Given the description of an element on the screen output the (x, y) to click on. 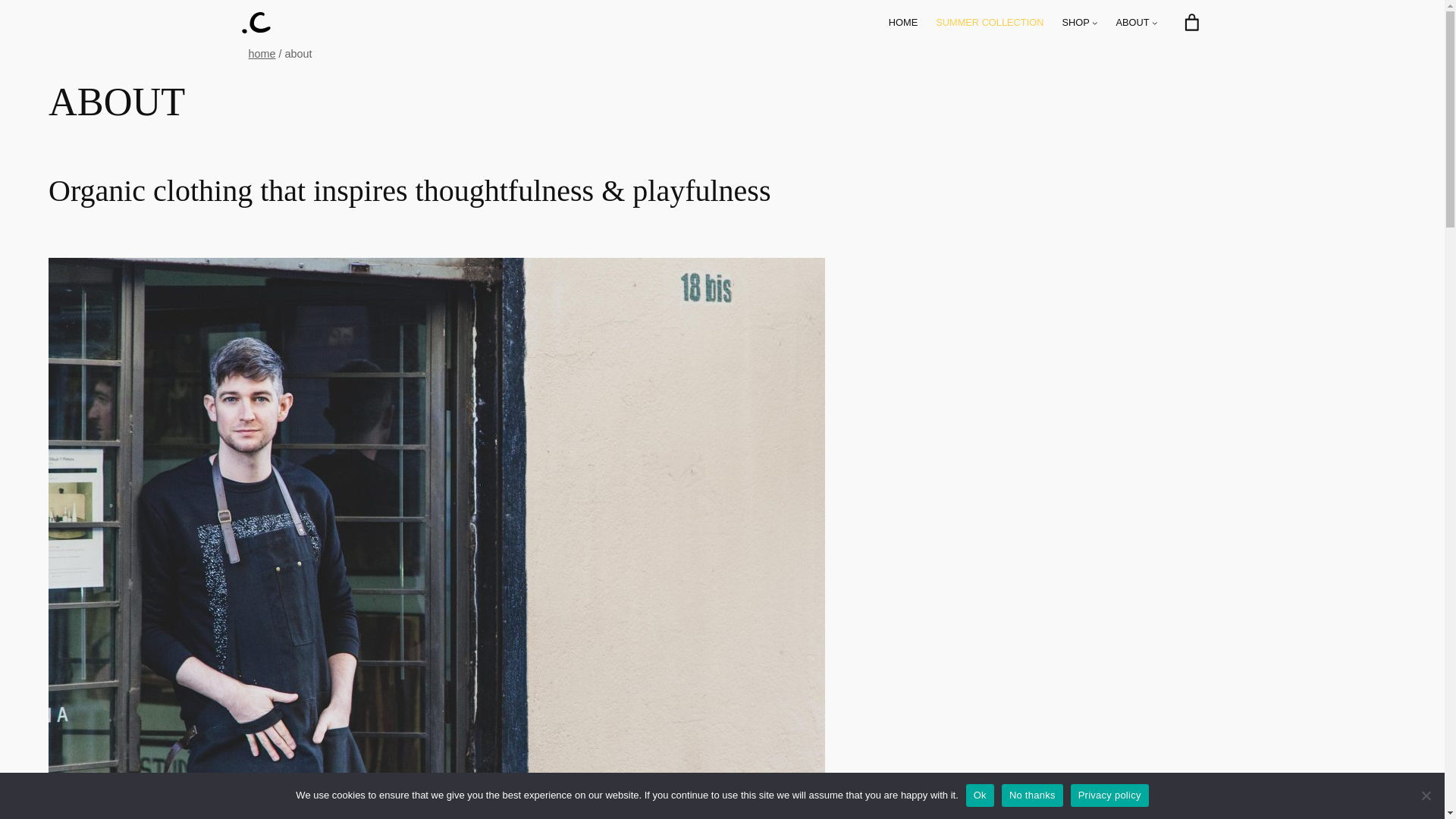
Privacy policy (1109, 794)
ABOUT (1133, 22)
SHOP (1075, 22)
home (262, 53)
HOME (902, 22)
SUMMER COLLECTION (989, 22)
No thanks (1031, 794)
Ok (980, 794)
